Given the description of an element on the screen output the (x, y) to click on. 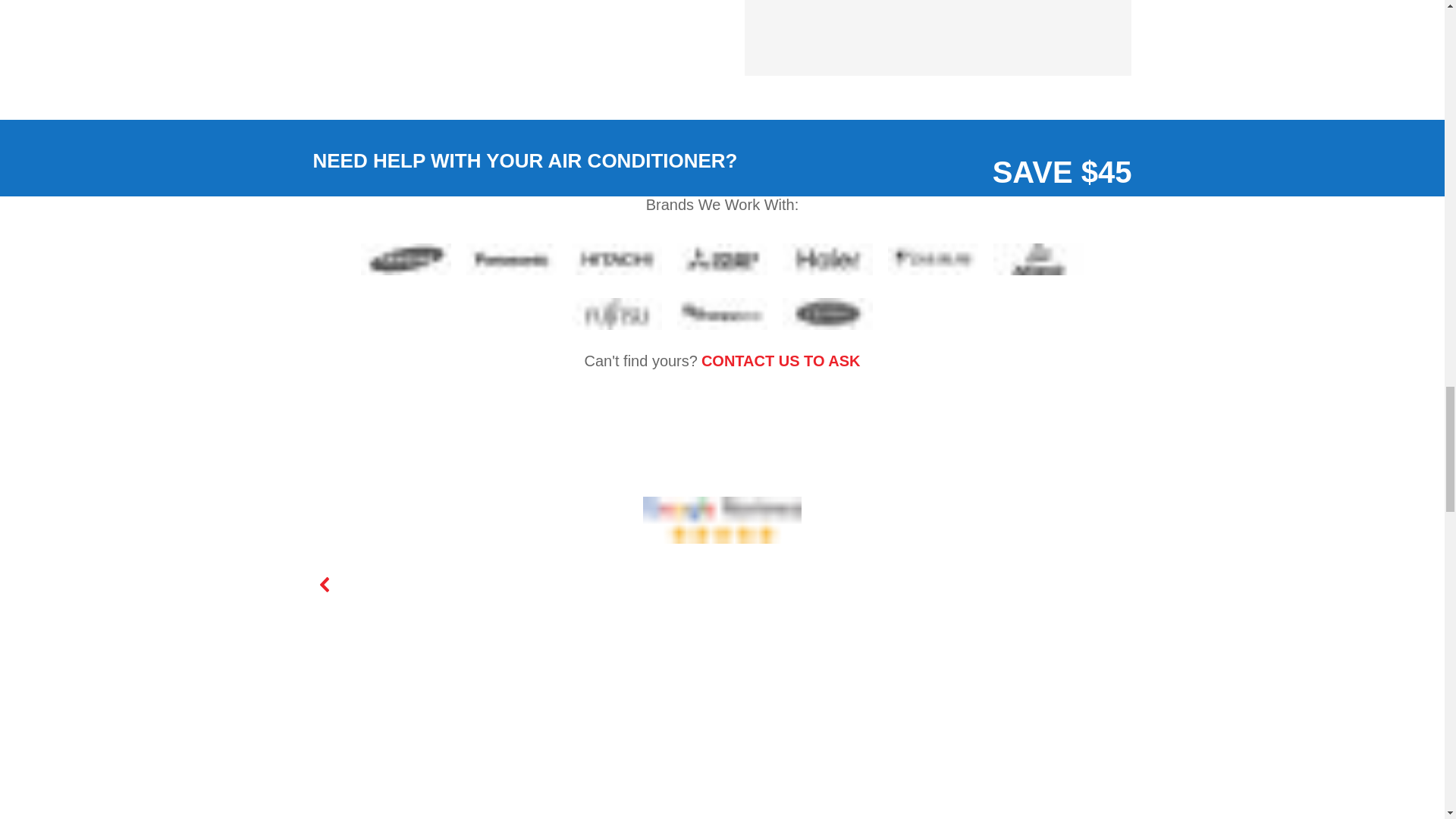
fujitsu-logo (617, 314)
hitachi-logo (617, 259)
google-reviews (722, 519)
temperzone-logo (722, 314)
actron-logo (1037, 259)
mitsub-logo (722, 259)
samsung-logo (406, 259)
carrier-logo (827, 314)
panasonic-logo (510, 259)
haier-logo (827, 259)
